Given the description of an element on the screen output the (x, y) to click on. 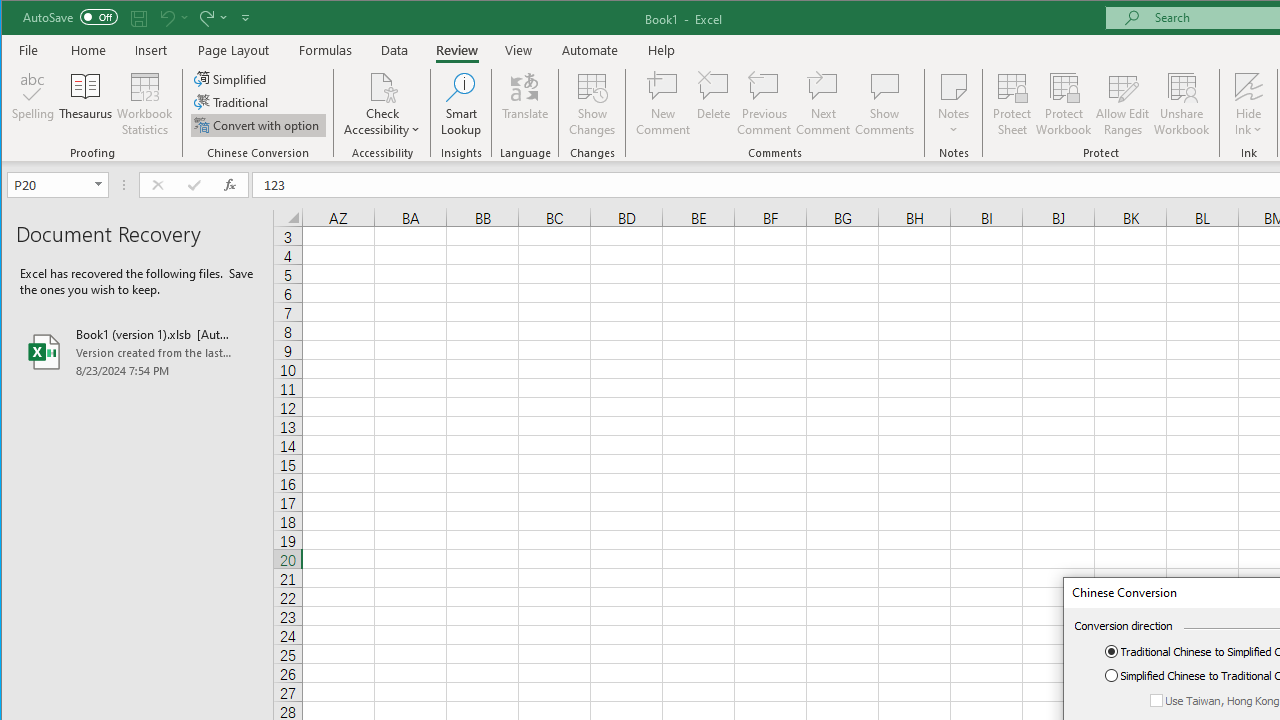
Check Accessibility (381, 104)
